Given the description of an element on the screen output the (x, y) to click on. 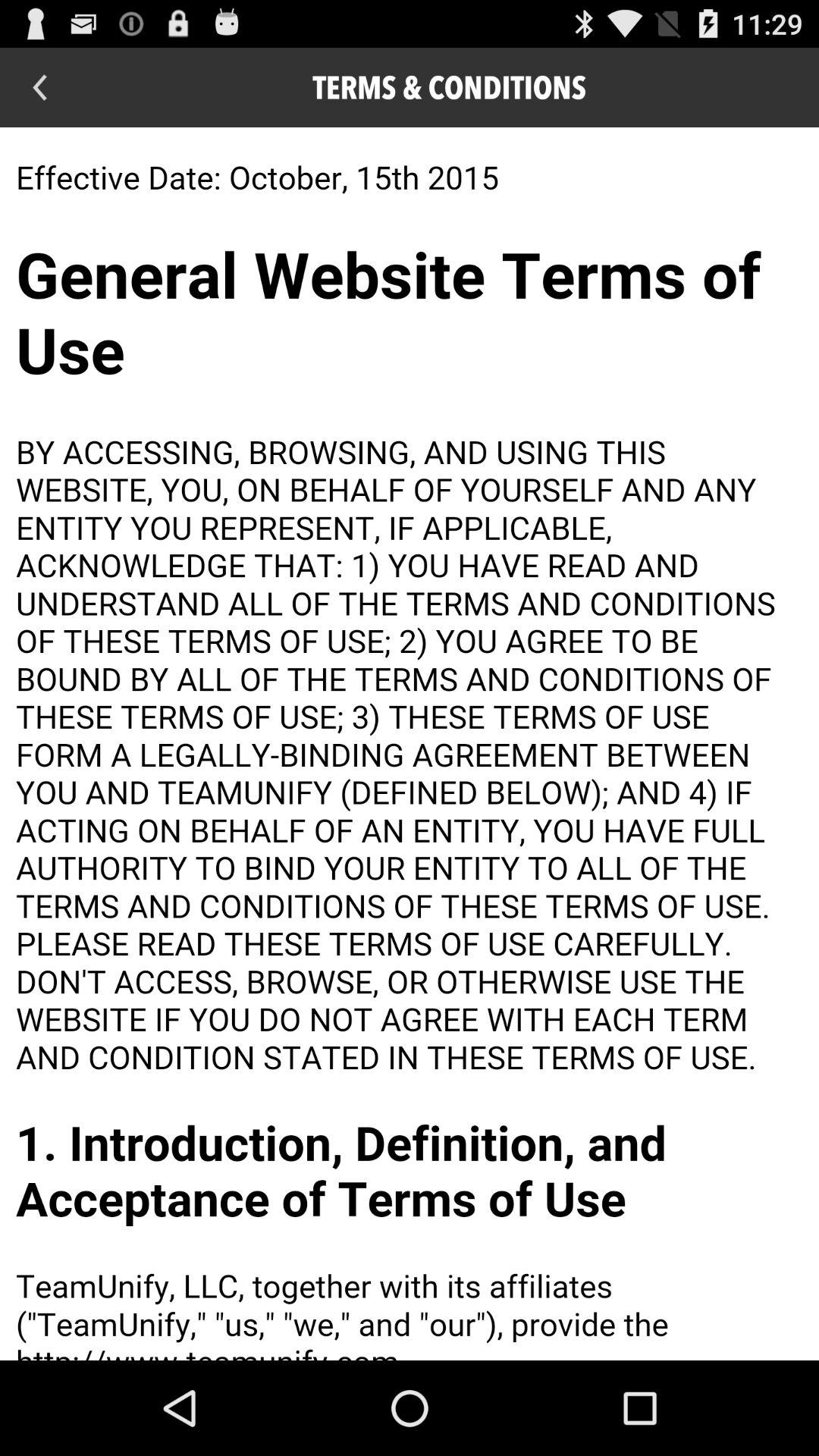
go back (39, 87)
